Given the description of an element on the screen output the (x, y) to click on. 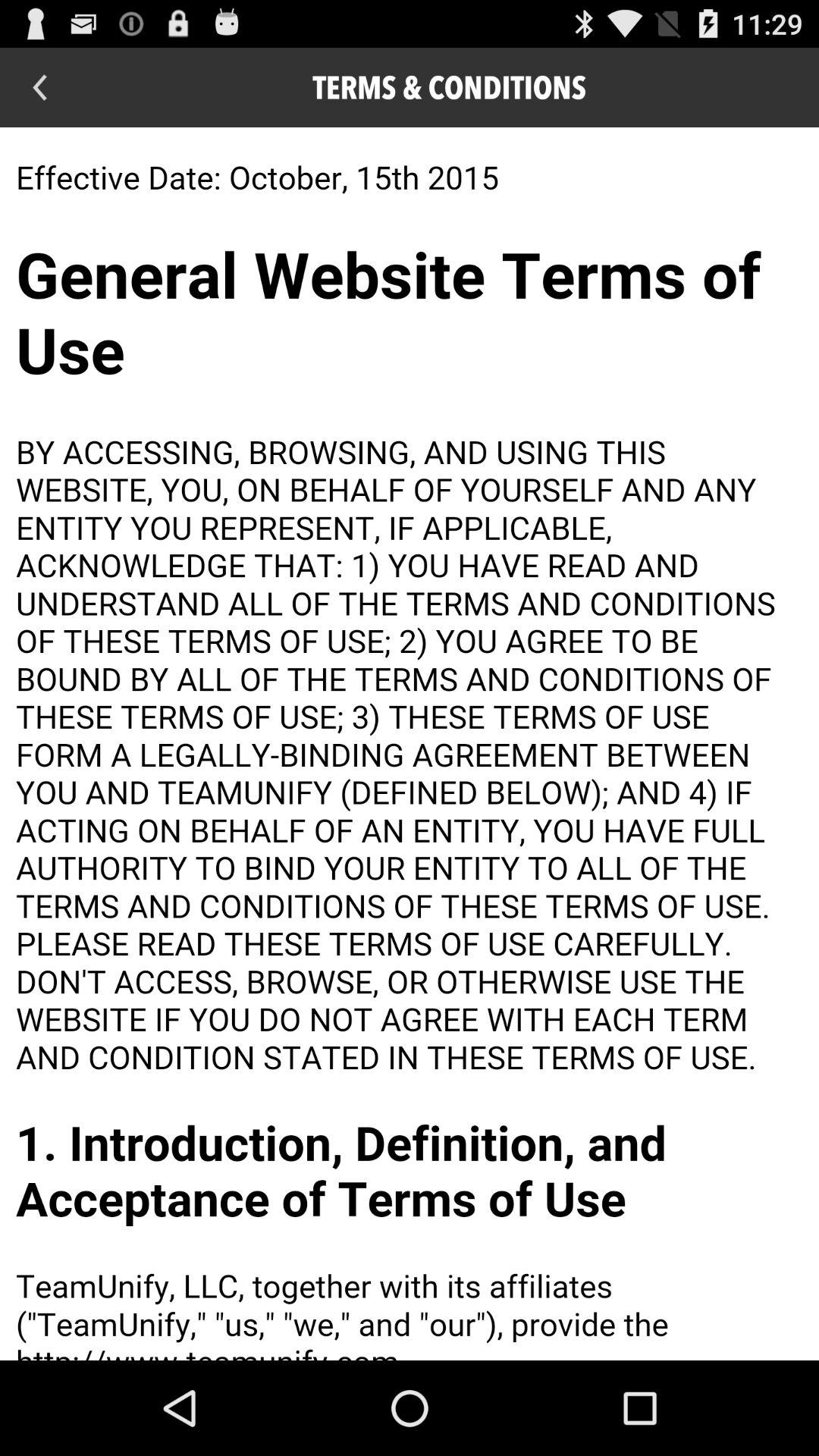
go back (39, 87)
